Given the description of an element on the screen output the (x, y) to click on. 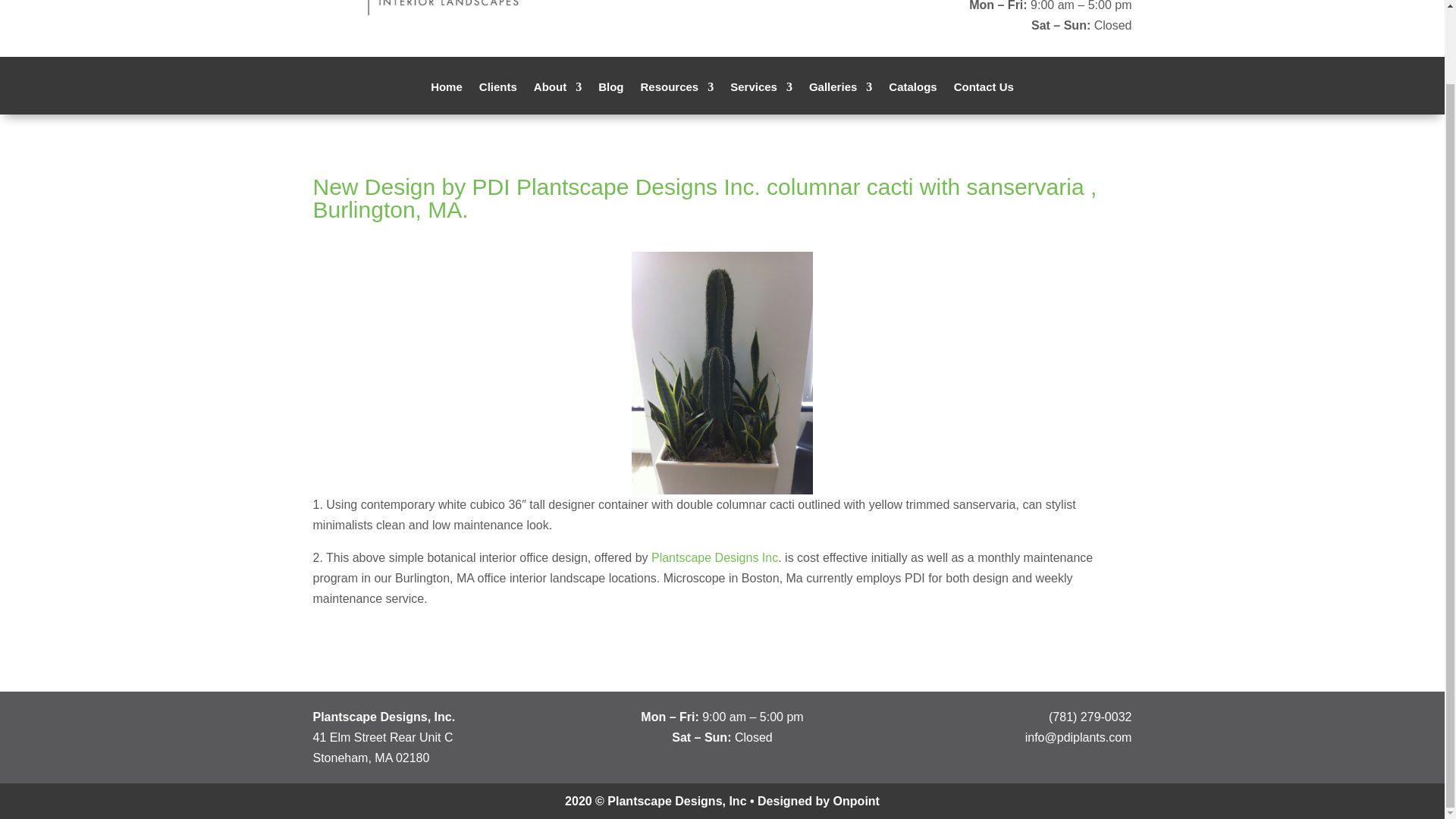
Contact Us (983, 97)
Galleries (840, 97)
Services (761, 97)
Clients (497, 97)
Catalogs (912, 97)
Plantscape Designs Inc (712, 557)
Resources (676, 97)
Home (446, 97)
About (557, 97)
Designed by Onpoint (818, 800)
